Given the description of an element on the screen output the (x, y) to click on. 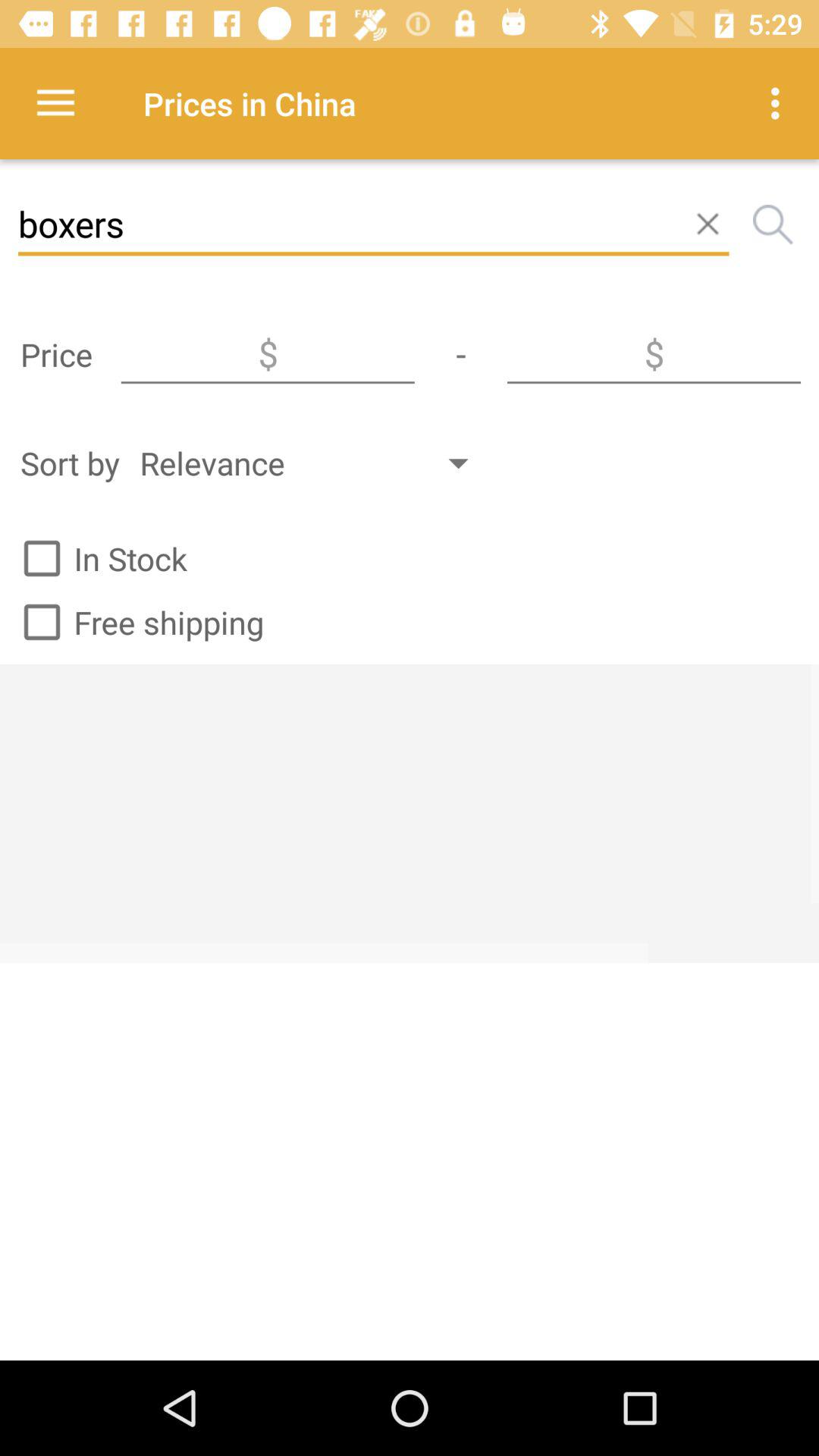
open the icon below boxers item (267, 354)
